Given the description of an element on the screen output the (x, y) to click on. 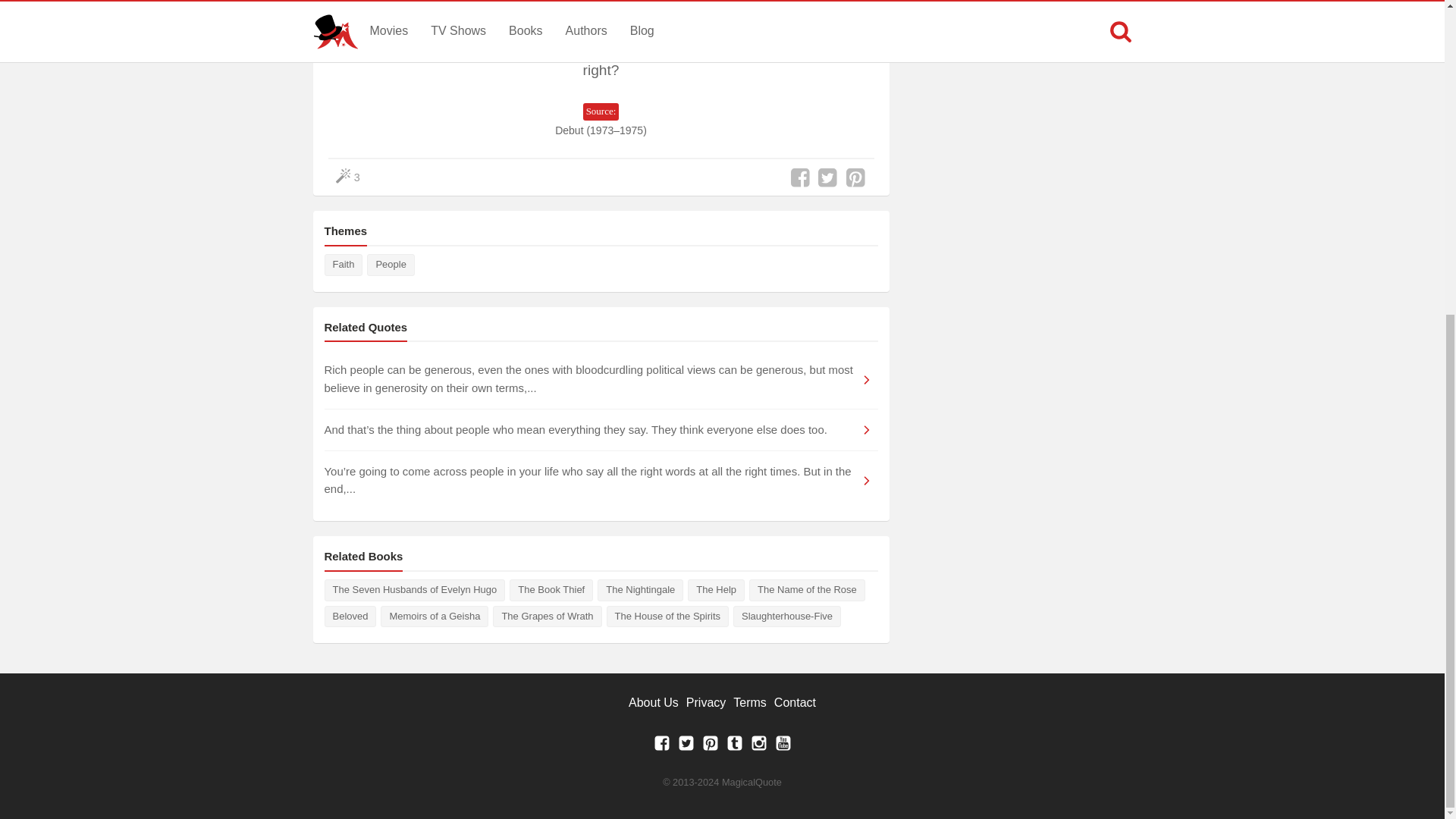
Memoirs of a Geisha (433, 617)
People (389, 264)
Faith (343, 264)
Terms (750, 702)
The Name of the Rose (806, 590)
About Us (653, 702)
Facebook (661, 747)
The Grapes of Wrath (547, 617)
The Nightingale (639, 590)
